Given the description of an element on the screen output the (x, y) to click on. 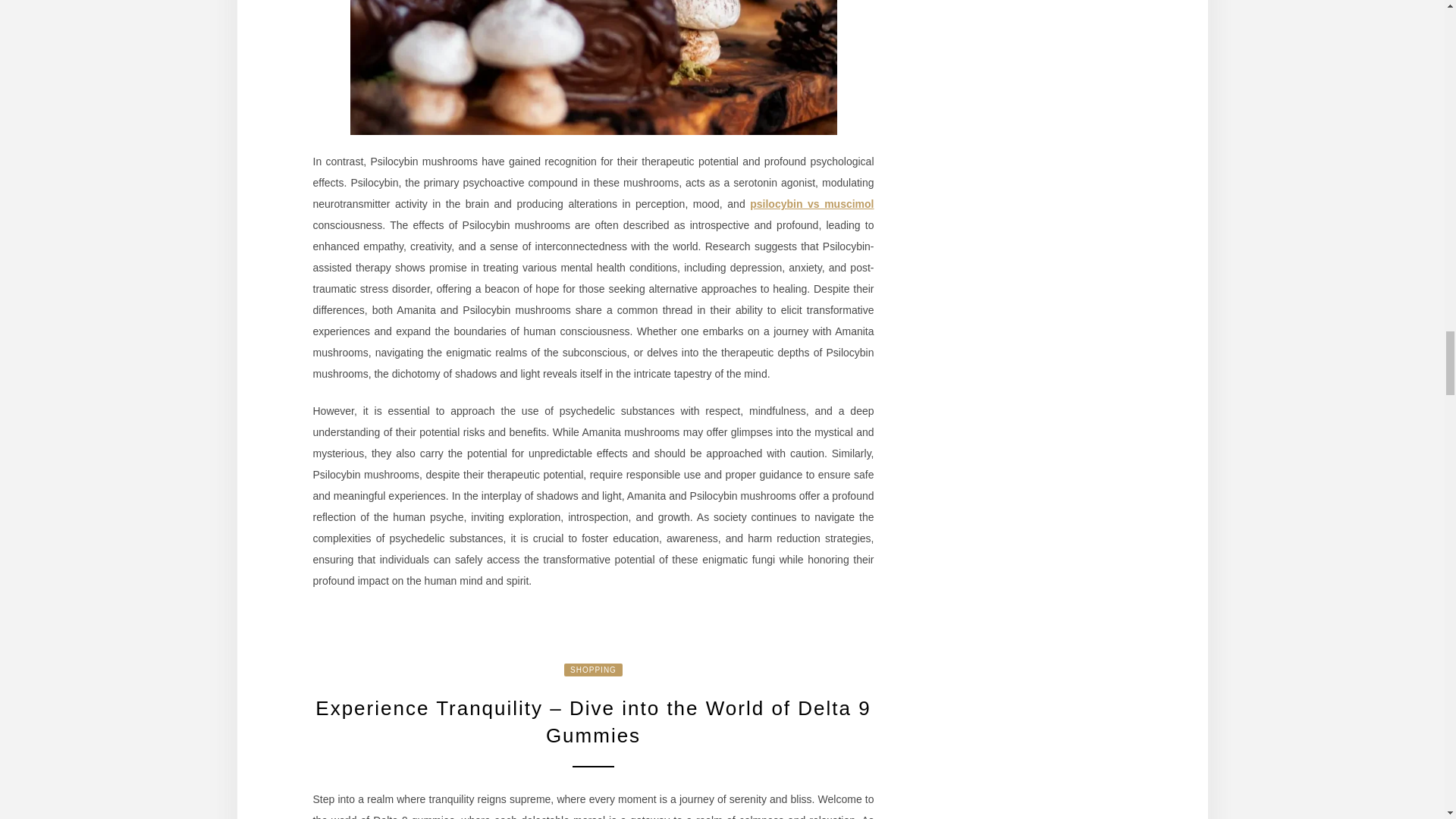
psilocybin vs muscimol (811, 203)
SHOPPING (593, 669)
